Given the description of an element on the screen output the (x, y) to click on. 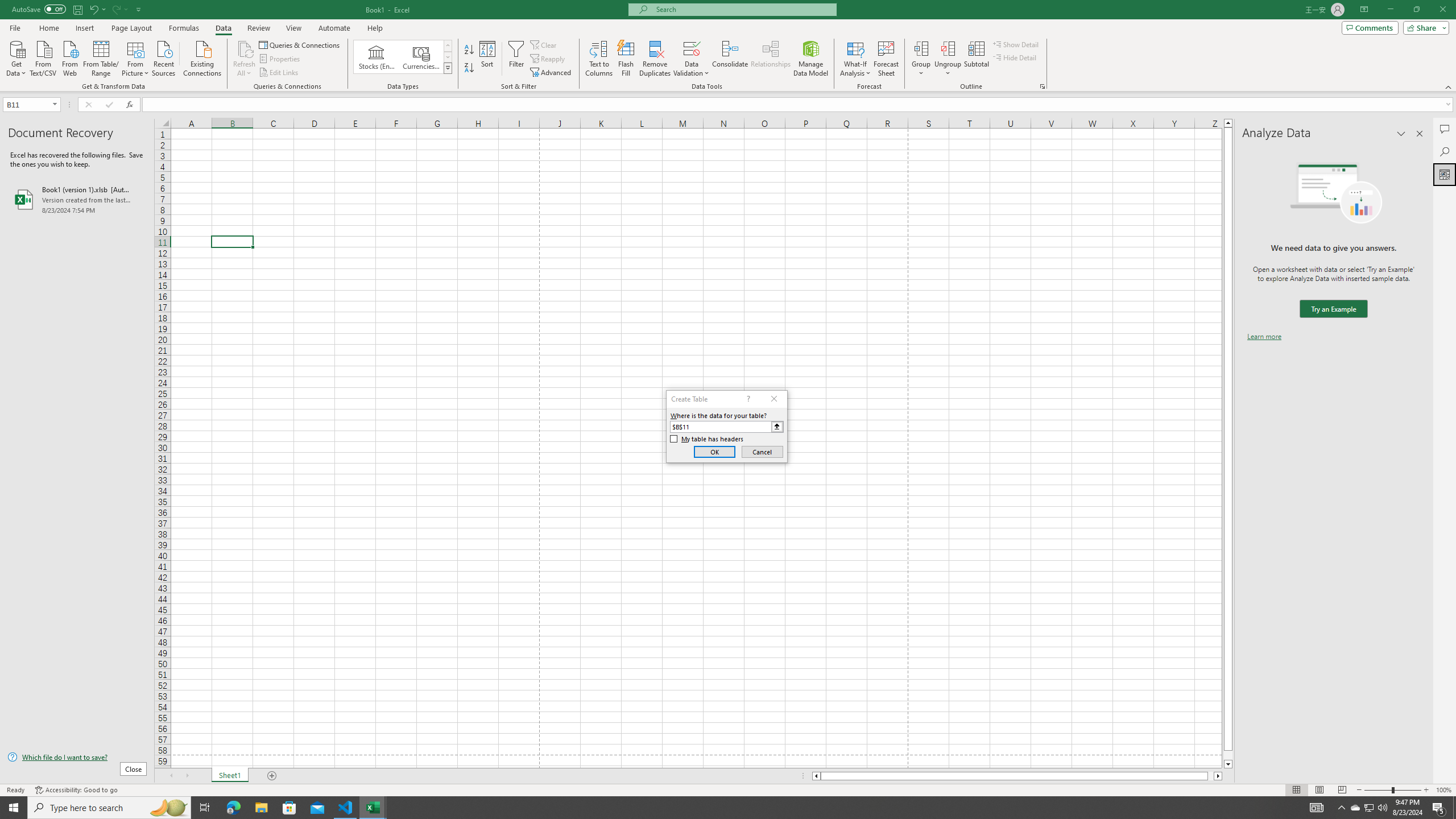
Advanced... (551, 72)
Manage Data Model (810, 58)
Automate (334, 28)
